Given the description of an element on the screen output the (x, y) to click on. 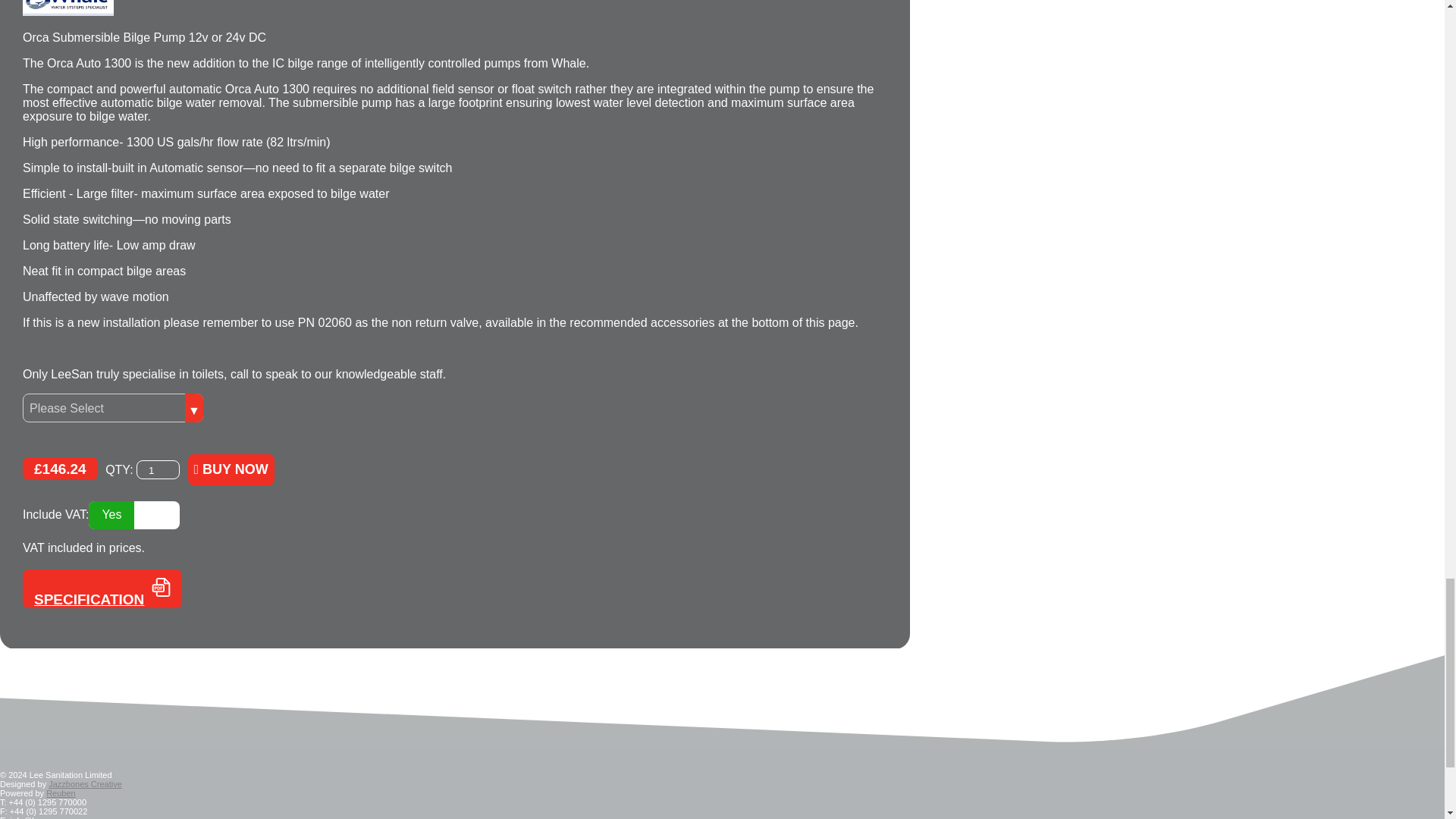
1 (157, 469)
